Given the description of an element on the screen output the (x, y) to click on. 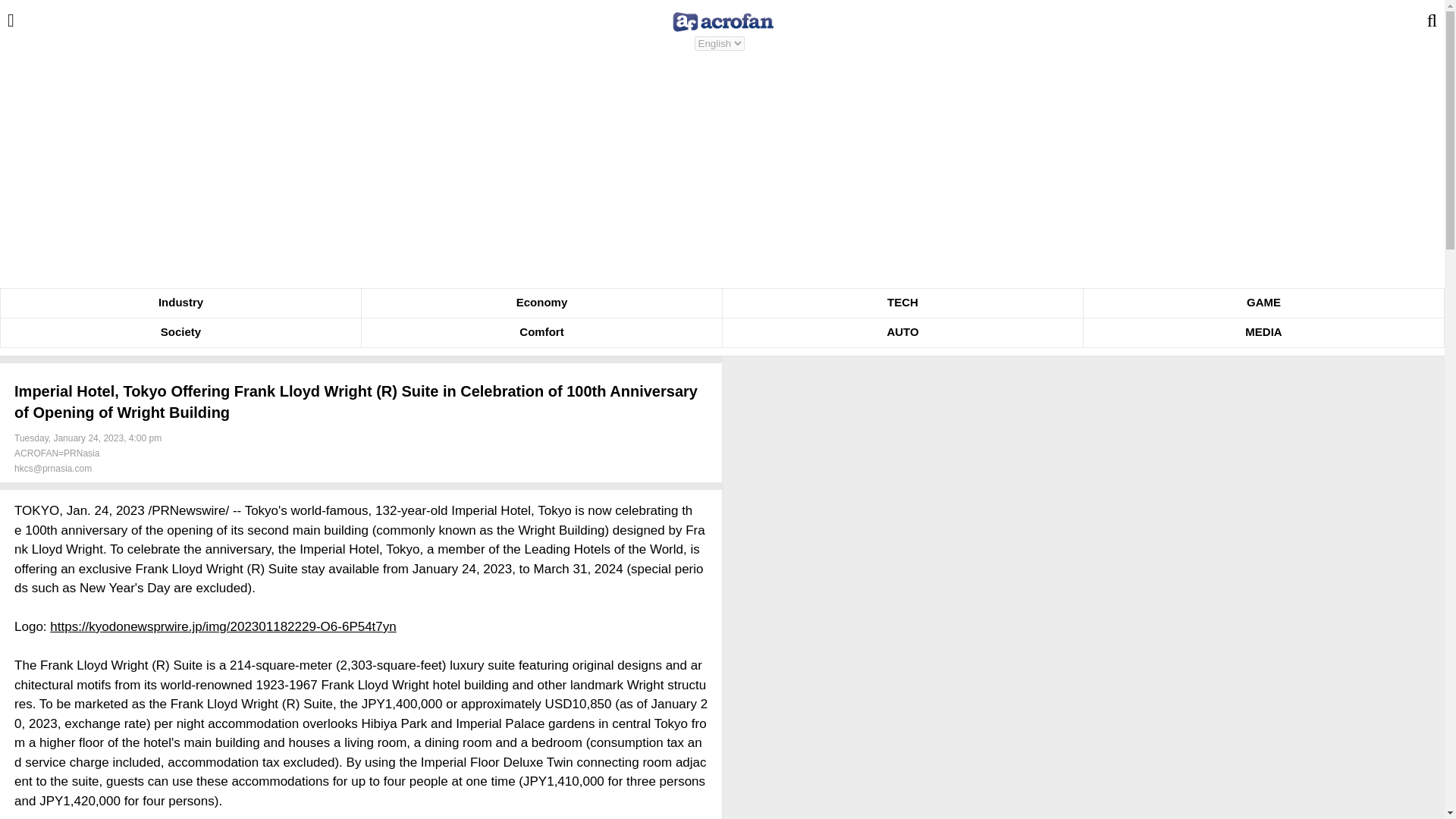
GAME (1263, 303)
Society (181, 332)
Comfort (541, 332)
Economy (541, 303)
TECH (902, 303)
AUTO (902, 332)
Industry (181, 303)
MEDIA (1263, 332)
